Given the description of an element on the screen output the (x, y) to click on. 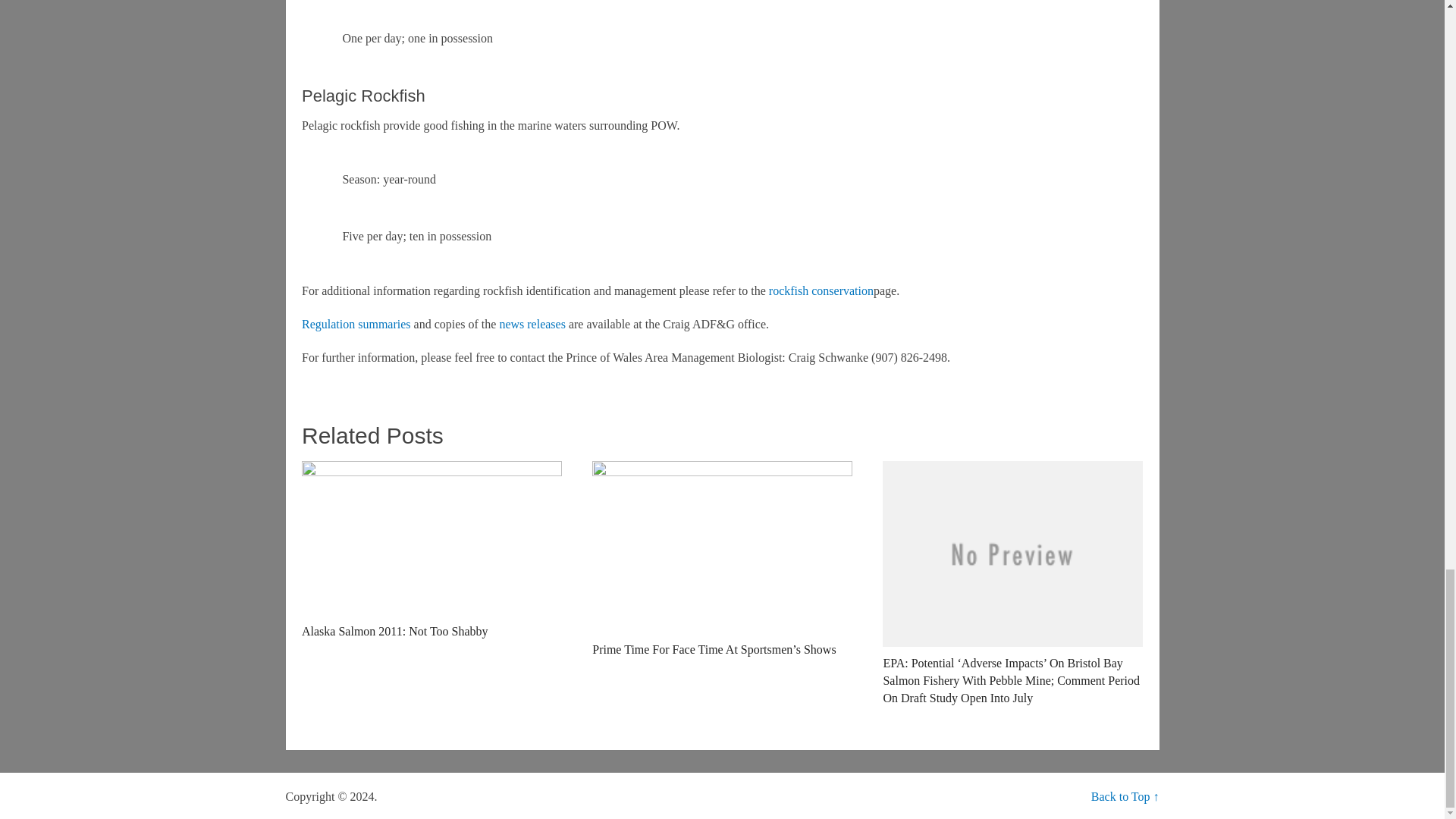
Alaska Salmon 2011: Not Too Shabby (430, 550)
